Given the description of an element on the screen output the (x, y) to click on. 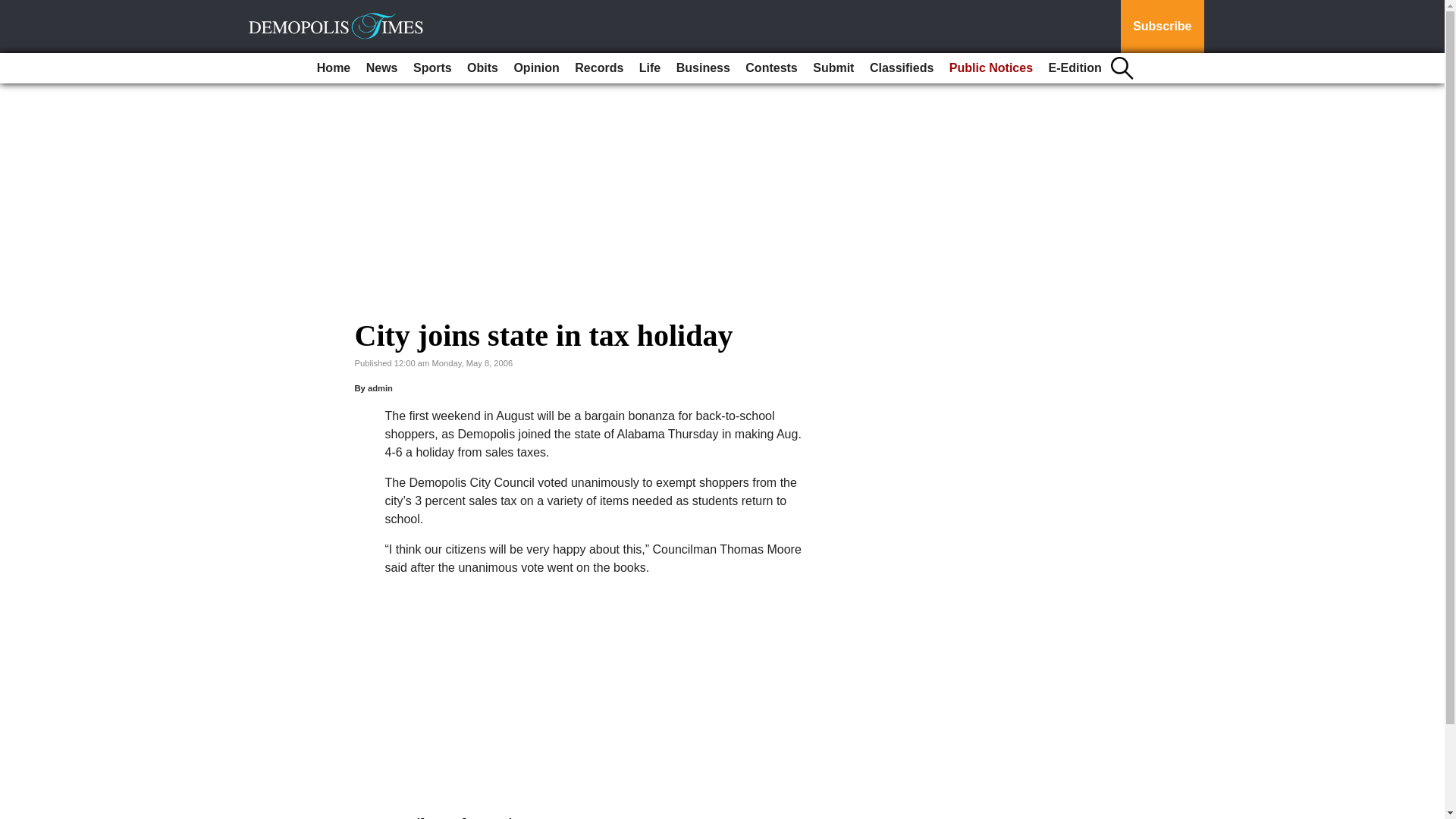
E-Edition (1075, 68)
Opinion (535, 68)
Records (598, 68)
News (381, 68)
Sports (432, 68)
admin (380, 388)
Life (649, 68)
Submit (833, 68)
Business (702, 68)
Obits (482, 68)
